Given the description of an element on the screen output the (x, y) to click on. 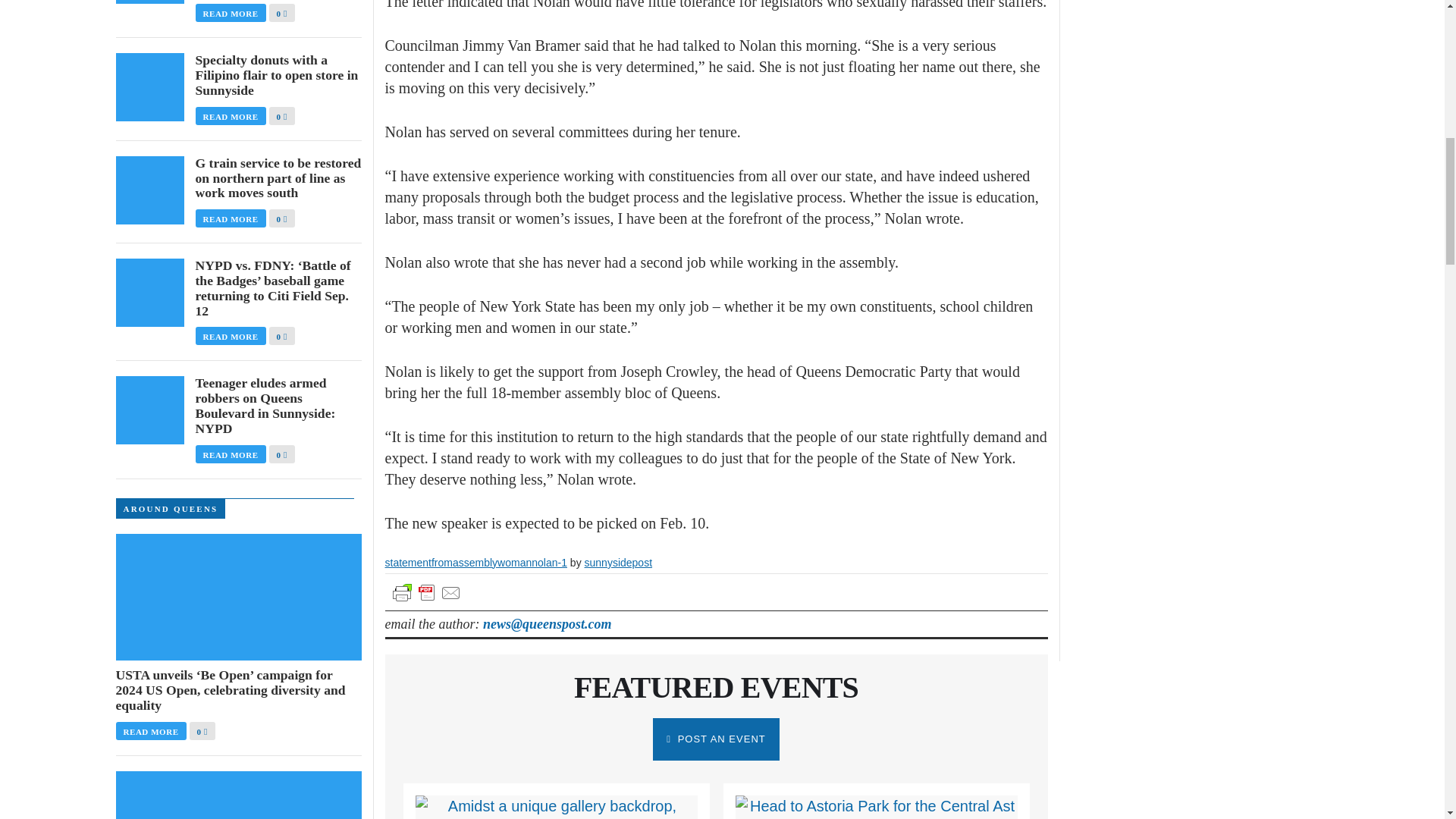
statementfromassemblywomannolan-1 (476, 562)
POST AN EVENT (715, 739)
sunnysidepost (618, 562)
View statementfromassemblywomannolan-1 on Scribd (476, 562)
View sunnysidepost's profile on Scribd (618, 562)
FEATURED EVENTS (716, 687)
